Given the description of an element on the screen output the (x, y) to click on. 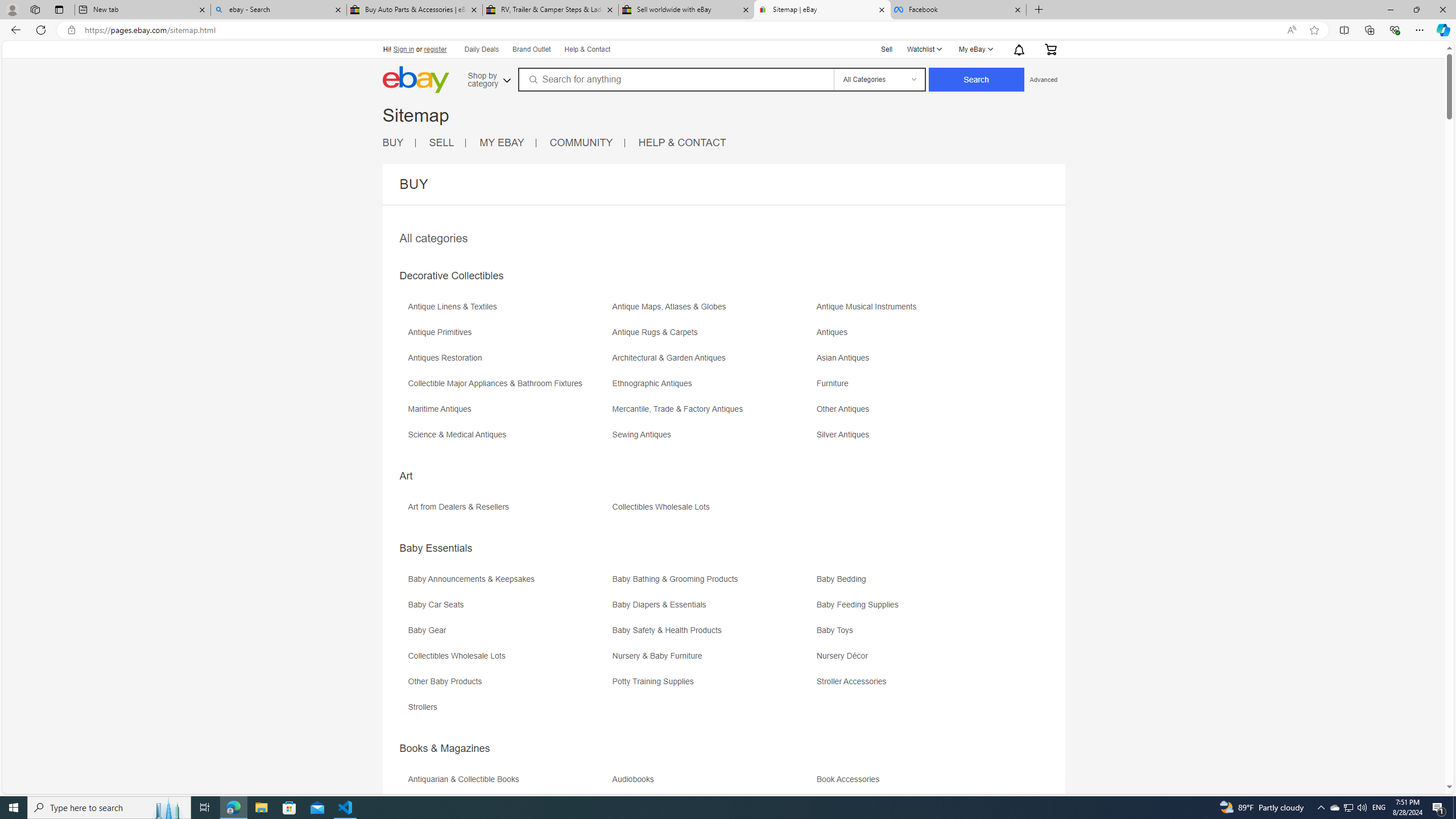
Furniture (917, 387)
BUY (392, 142)
Watchlist (923, 49)
Baby Car Seats (438, 604)
Sell (886, 48)
Architectural & Garden Antiques (670, 357)
Other Baby Products (508, 685)
Architectural & Garden Antiques (712, 361)
Antique Linens & Textiles (454, 306)
Baby Bathing & Grooming Products (712, 582)
Antique Rugs & Carpets (712, 336)
Antique Primitives (508, 336)
